Given the description of an element on the screen output the (x, y) to click on. 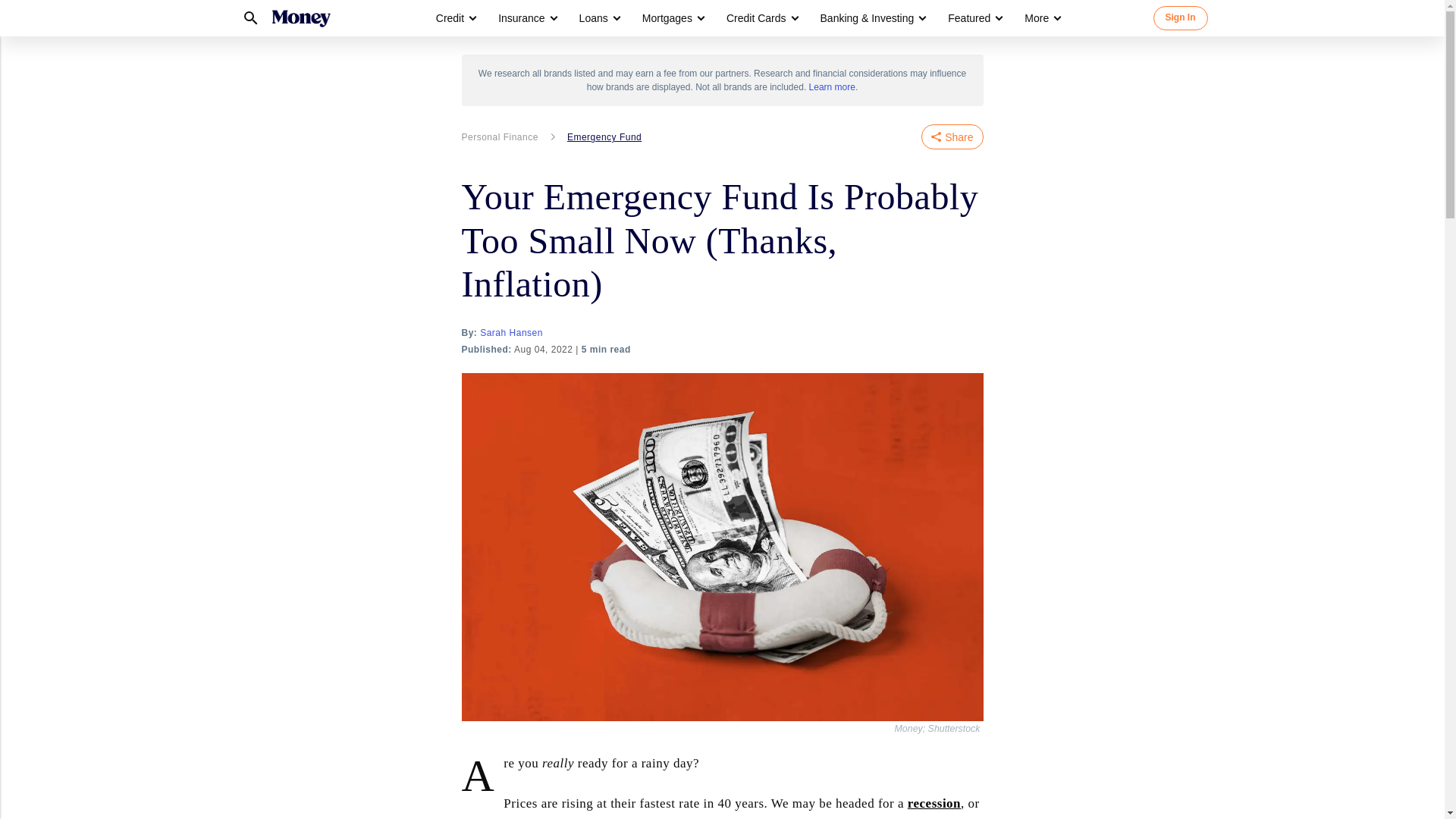
Mortgages (672, 18)
Loans (593, 18)
Insurance (526, 18)
Mortgages (667, 18)
Credit Cards (761, 18)
Credit (455, 18)
Insurance (520, 18)
Credit Cards (756, 18)
Credit (449, 18)
Loans (598, 18)
